Given the description of an element on the screen output the (x, y) to click on. 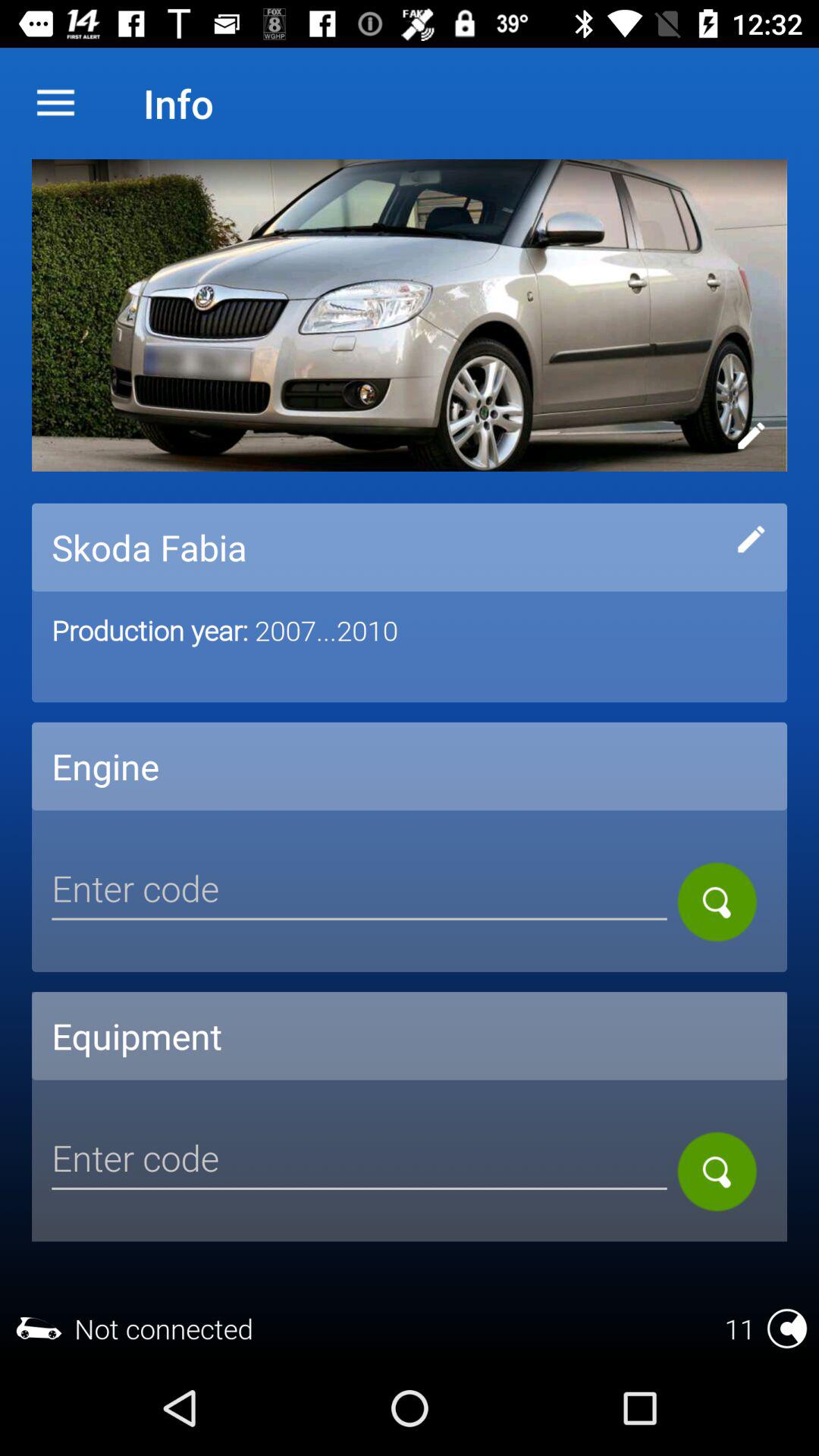
enter code (359, 891)
